Given the description of an element on the screen output the (x, y) to click on. 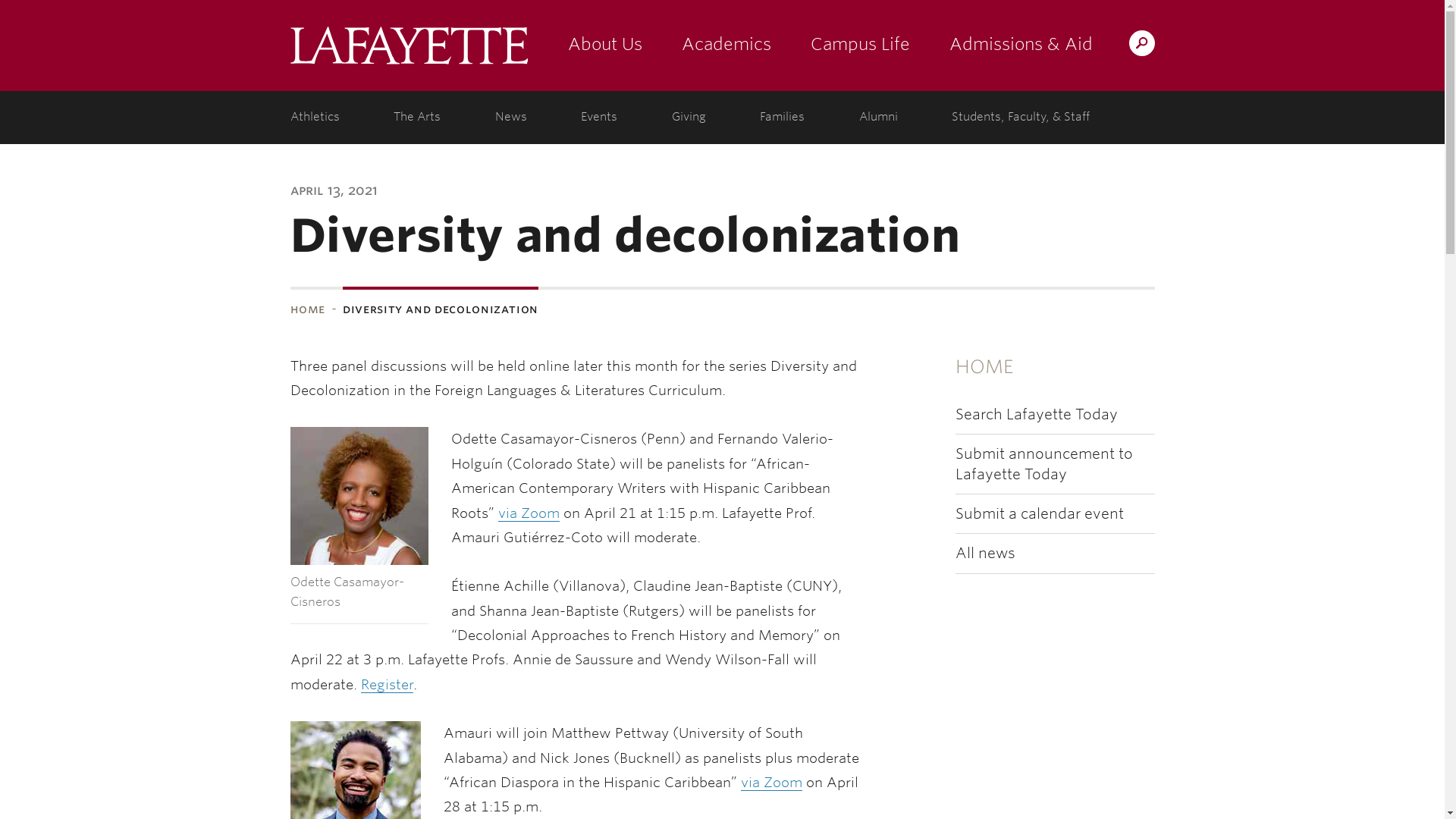
Lafayette College (408, 45)
Academics (725, 45)
Campus Life (859, 45)
About Us (603, 45)
Search Lafayette.edu (1141, 43)
Search (842, 42)
